Given the description of an element on the screen output the (x, y) to click on. 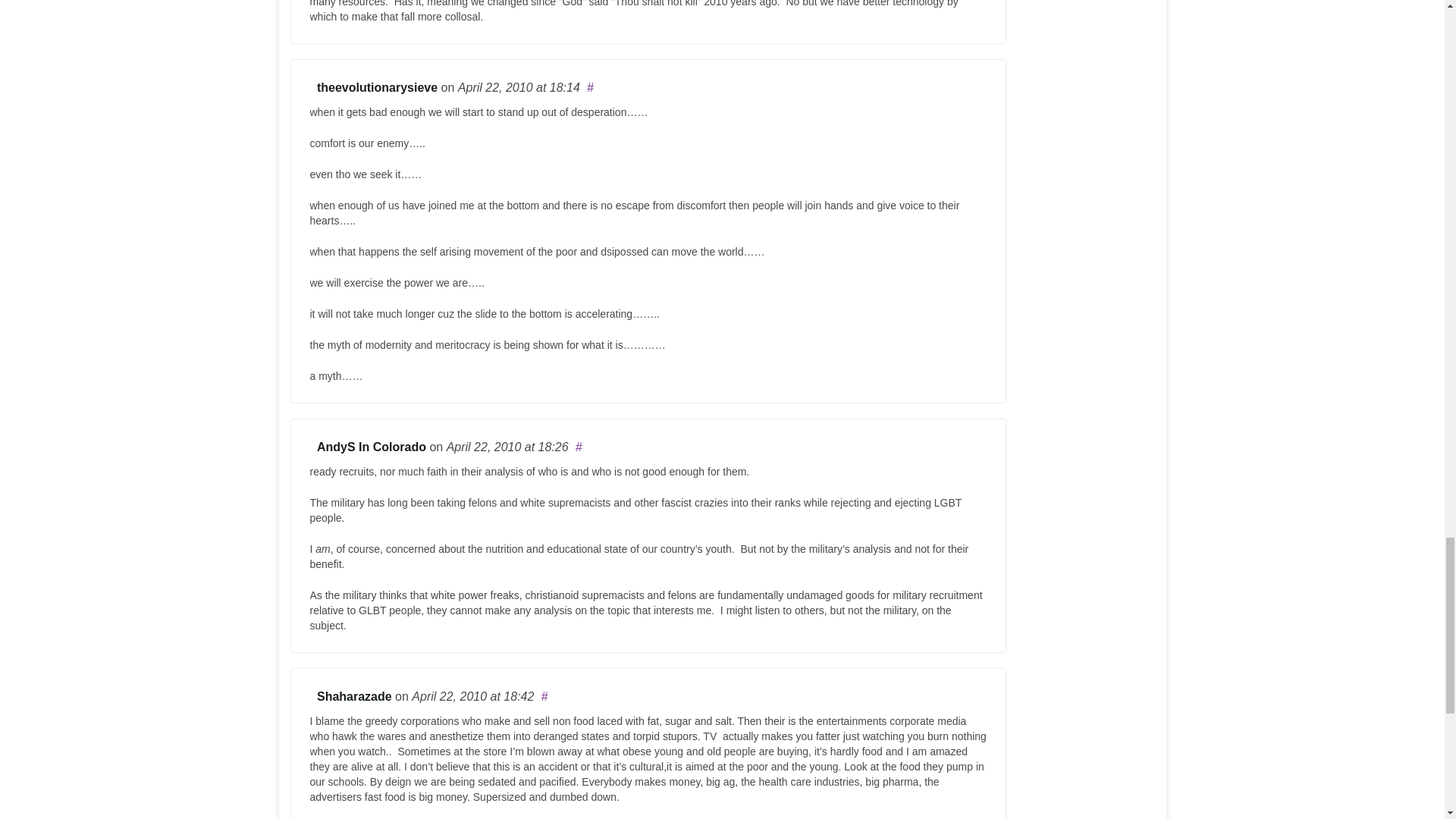
theevolutionarysieve (377, 87)
AndyS In Colorado (371, 446)
Shaharazade (354, 696)
